Given the description of an element on the screen output the (x, y) to click on. 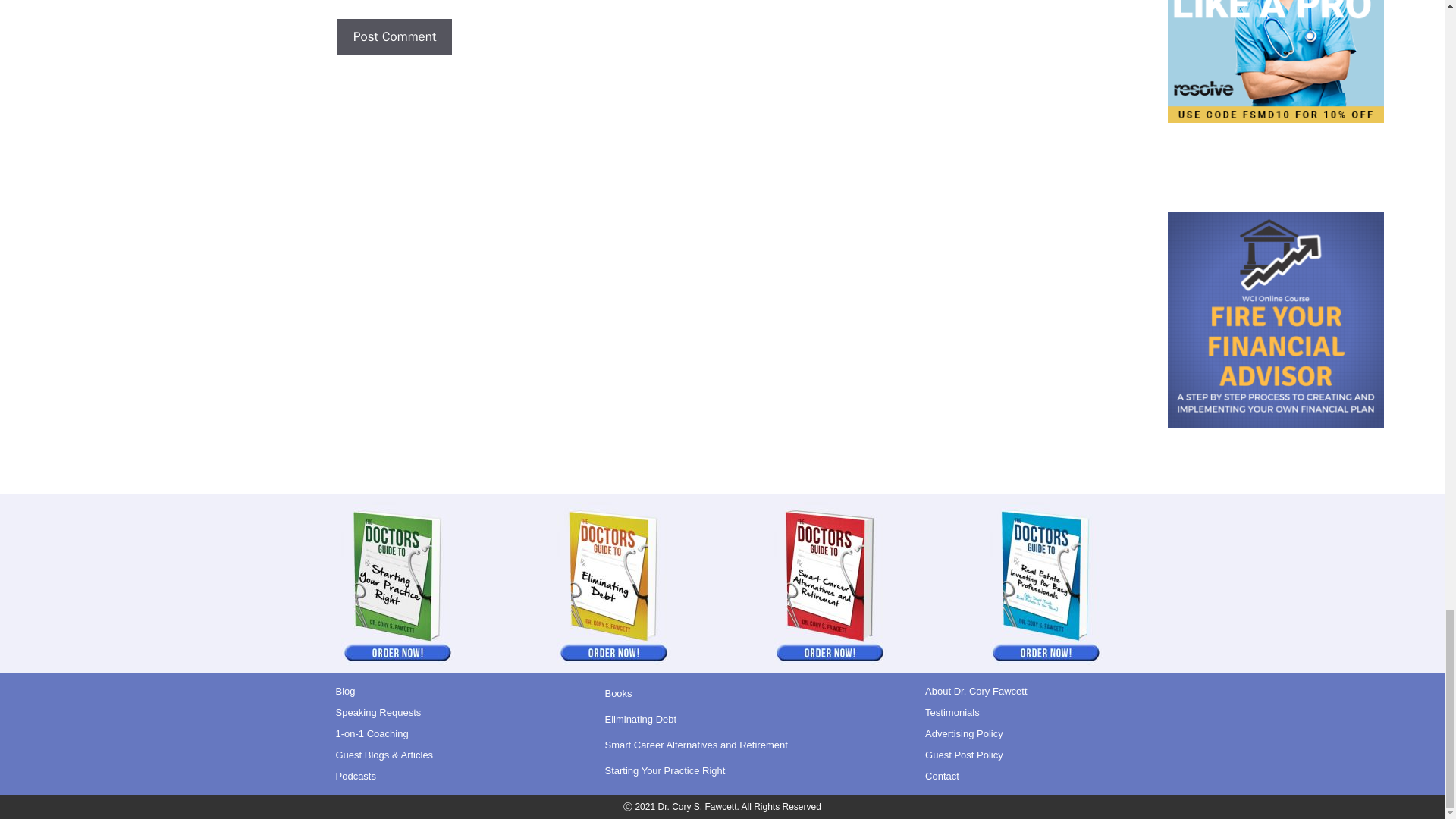
Post Comment (394, 36)
